Given the description of an element on the screen output the (x, y) to click on. 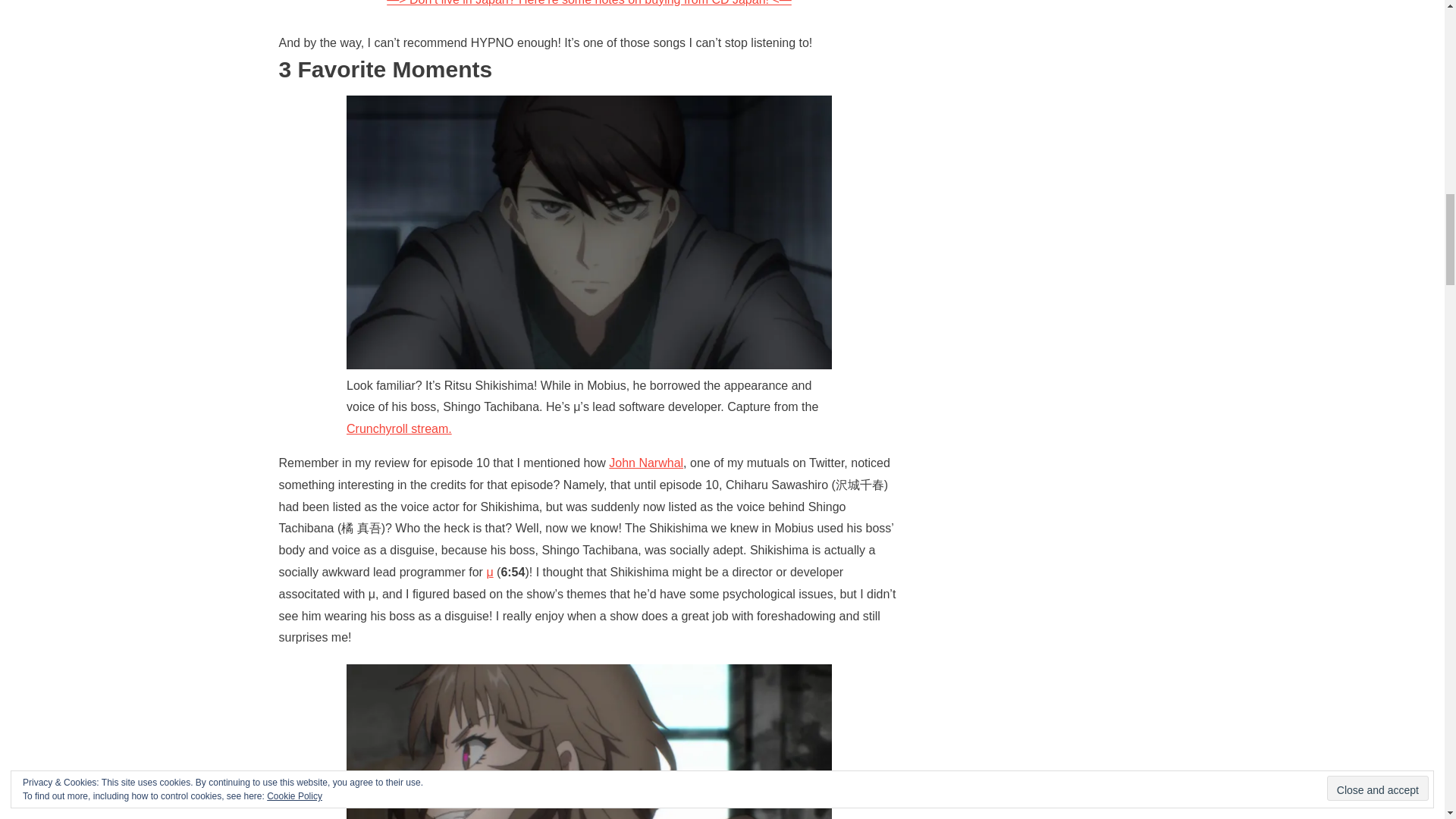
John Narwhal (645, 462)
Crunchyroll stream. (398, 428)
